Given the description of an element on the screen output the (x, y) to click on. 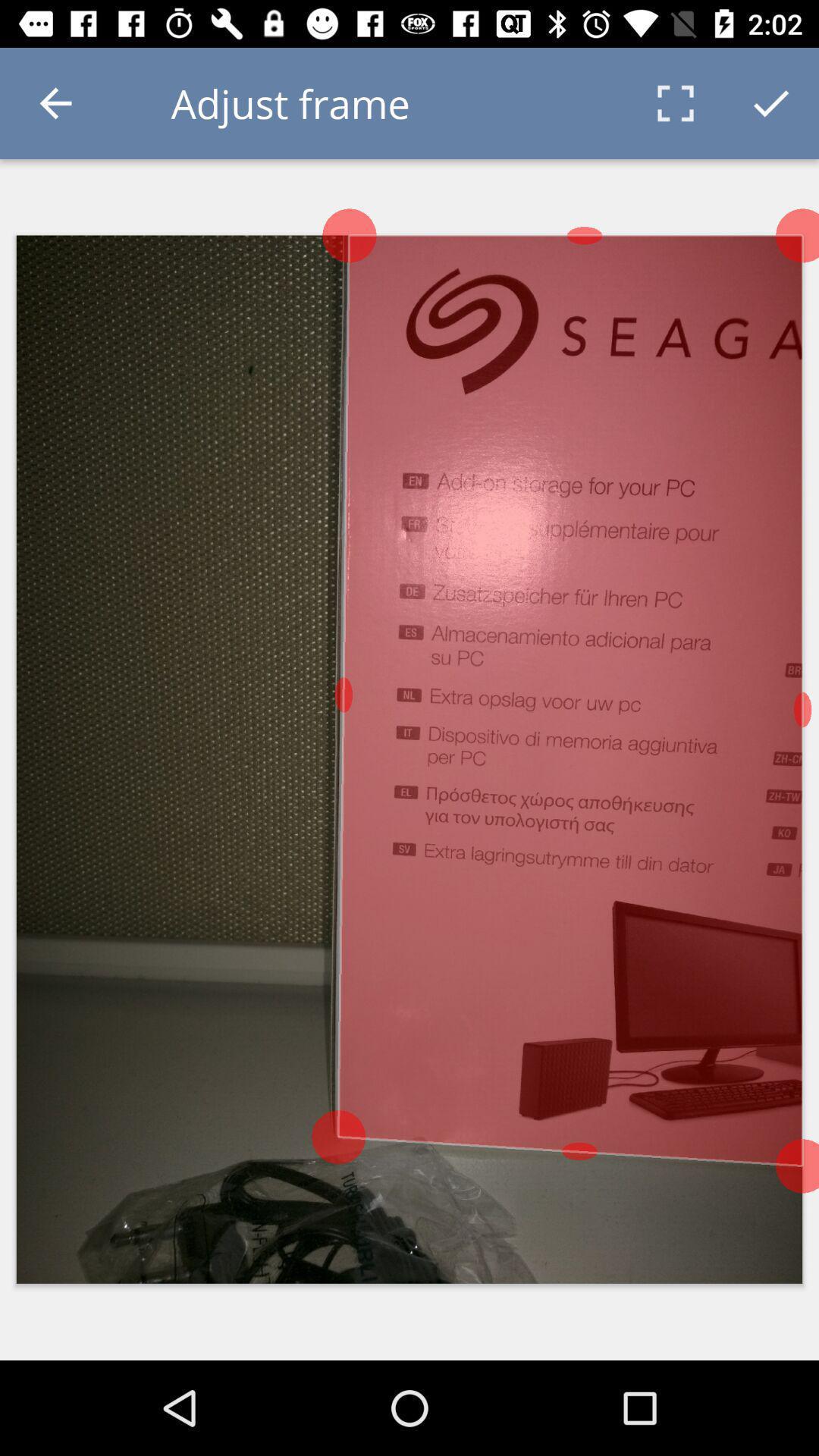
launch icon at the top left corner (55, 103)
